Given the description of an element on the screen output the (x, y) to click on. 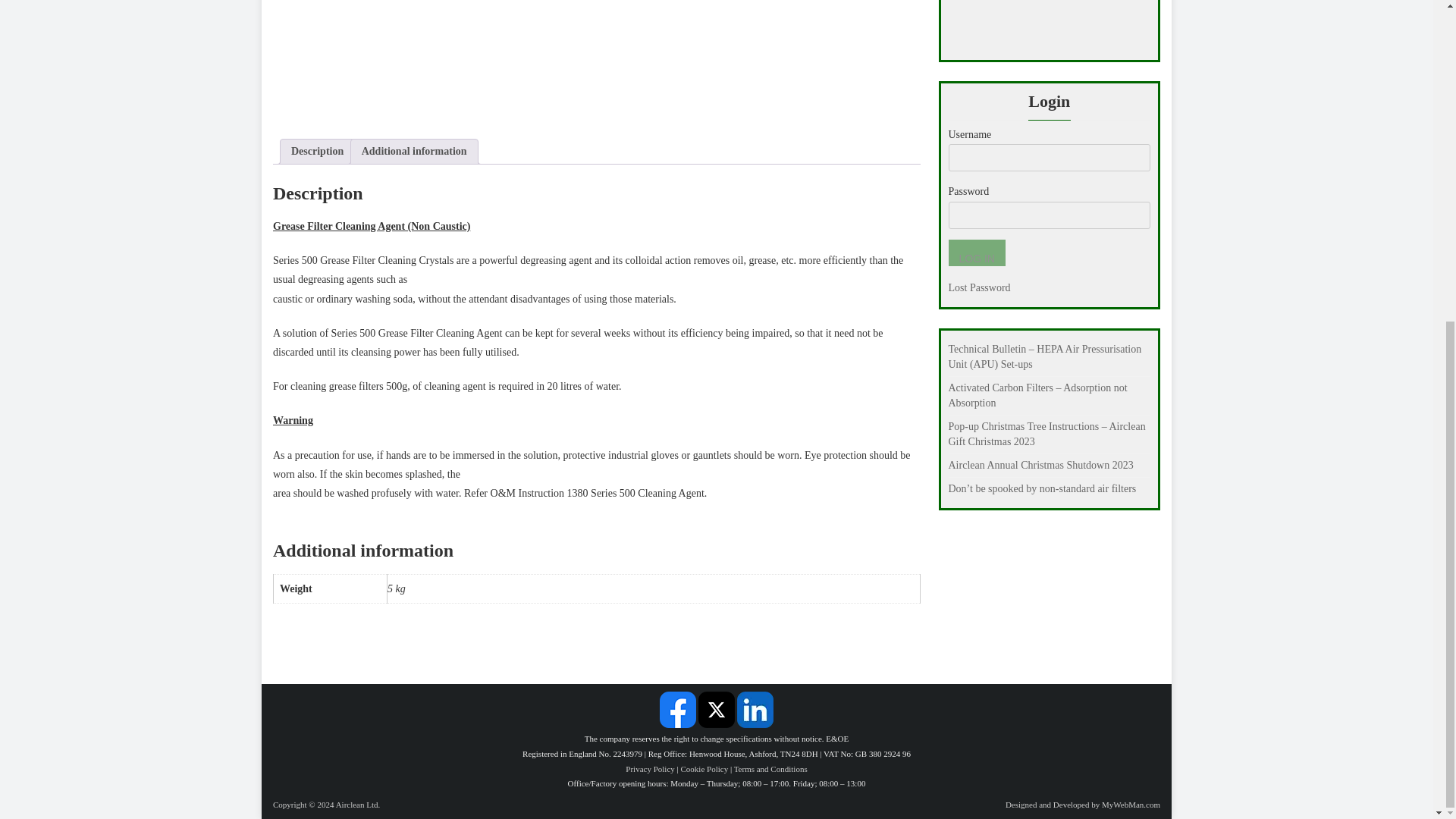
Log In (975, 252)
